Given the description of an element on the screen output the (x, y) to click on. 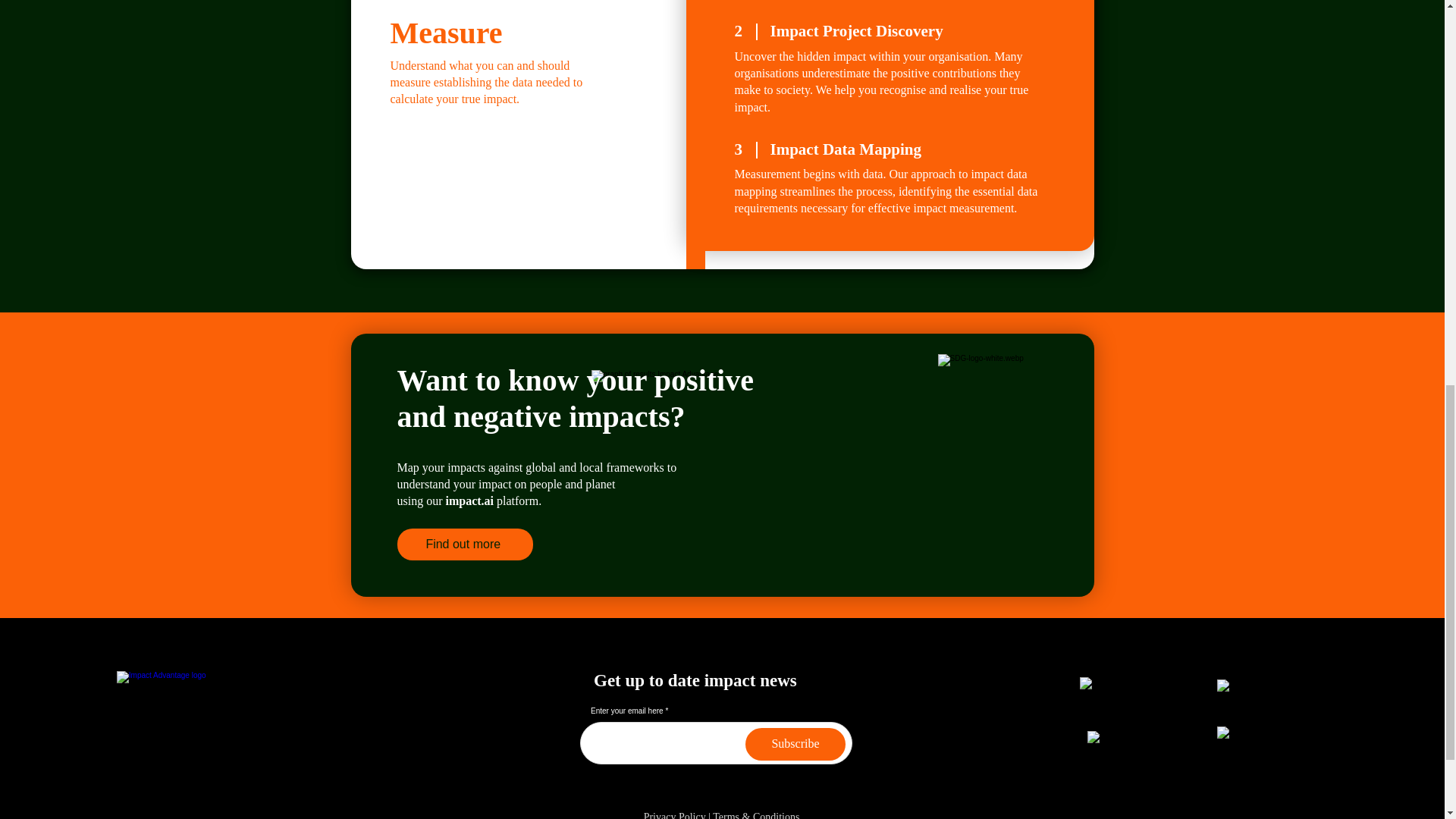
Subscribe (795, 744)
Privacy Policy (674, 815)
Get up to date impact news (695, 680)
Find out more (464, 544)
